Given the description of an element on the screen output the (x, y) to click on. 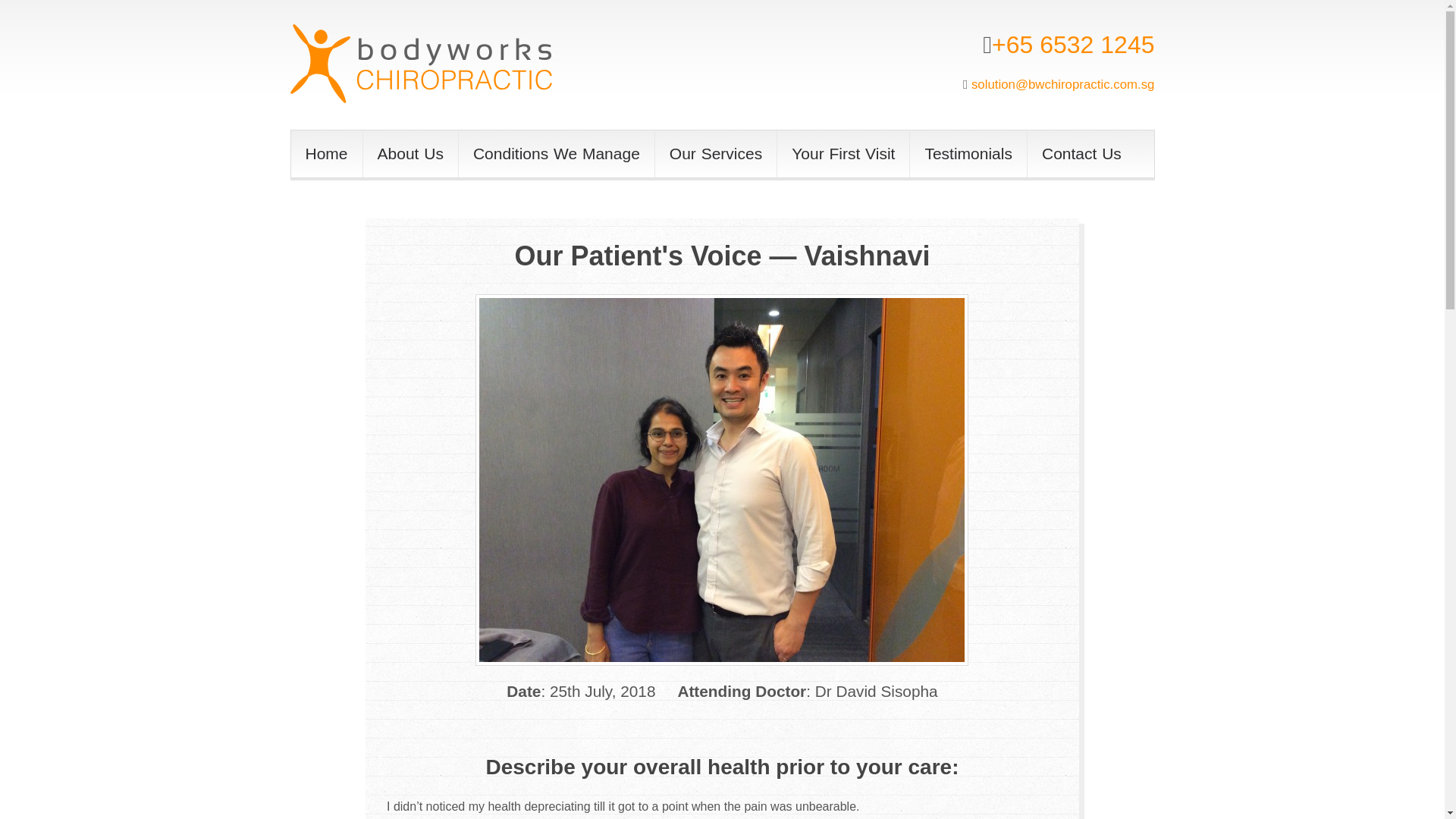
Contact Us (1081, 153)
Our Services (715, 153)
Your First Visit (842, 153)
Home (326, 153)
About Us (410, 153)
Testimonials (968, 153)
Conditions We Manage (555, 153)
